Given the description of an element on the screen output the (x, y) to click on. 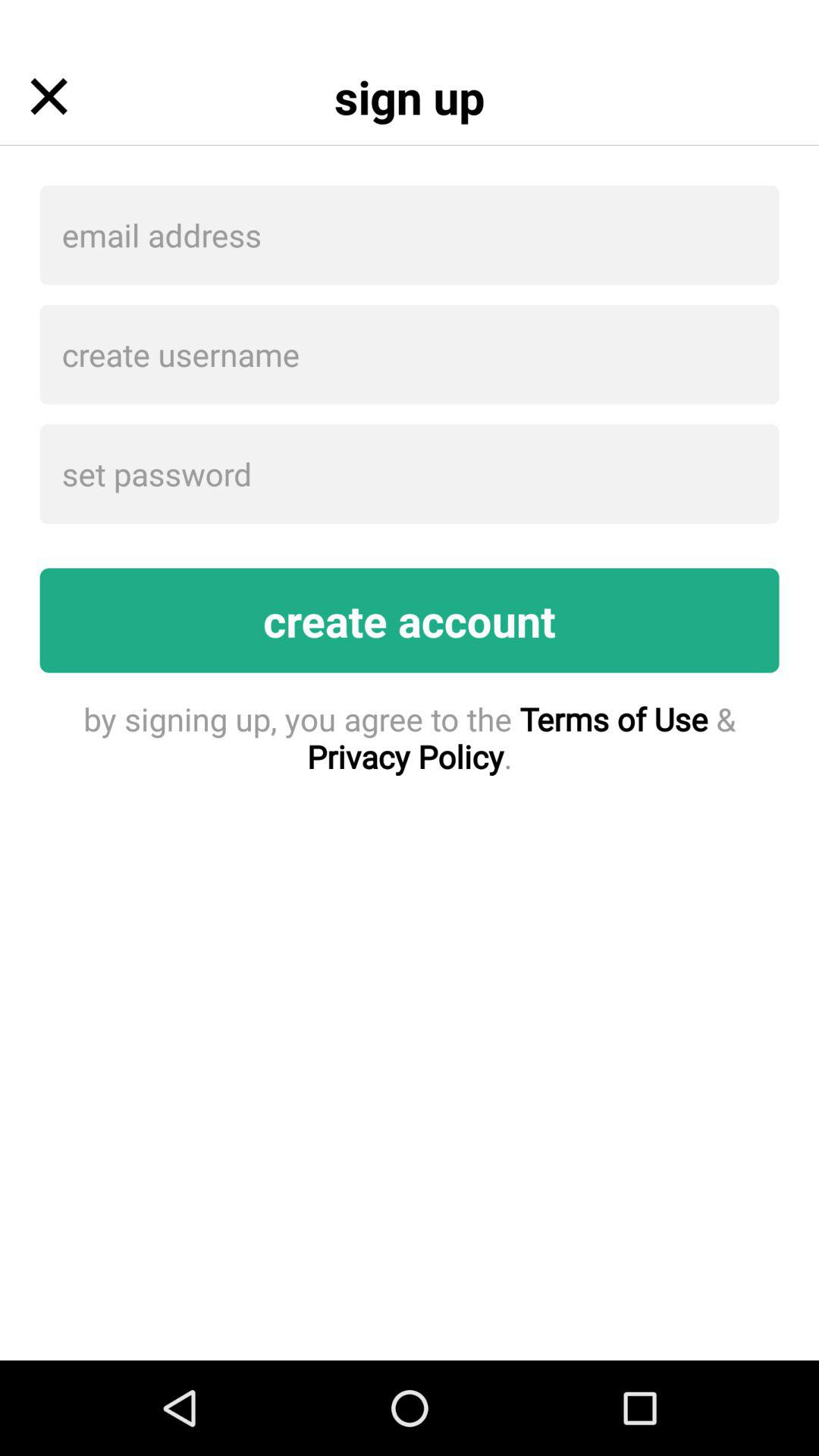
tap create account item (409, 620)
